Given the description of an element on the screen output the (x, y) to click on. 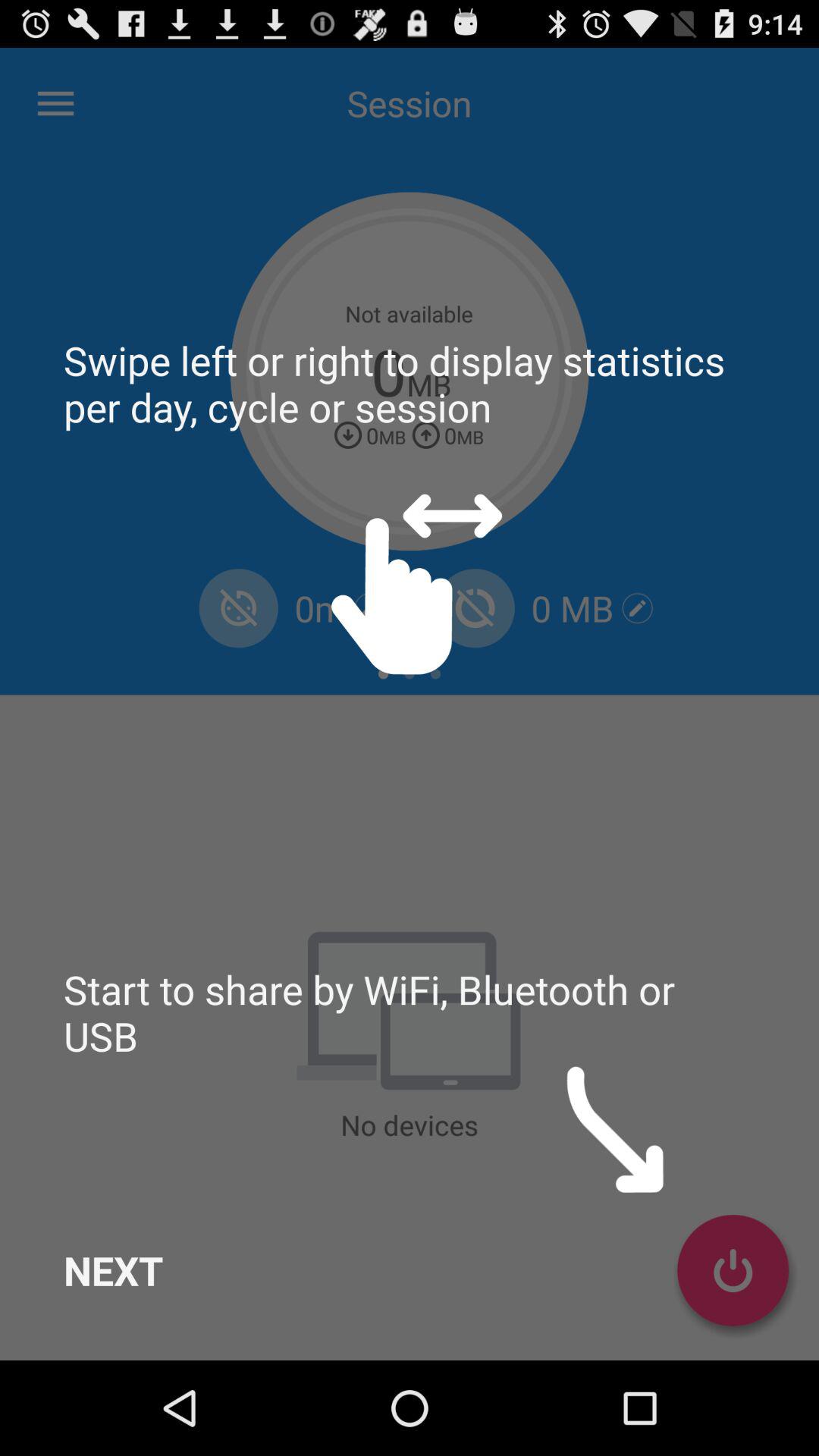
turn off the next at the bottom left corner (113, 1270)
